Given the description of an element on the screen output the (x, y) to click on. 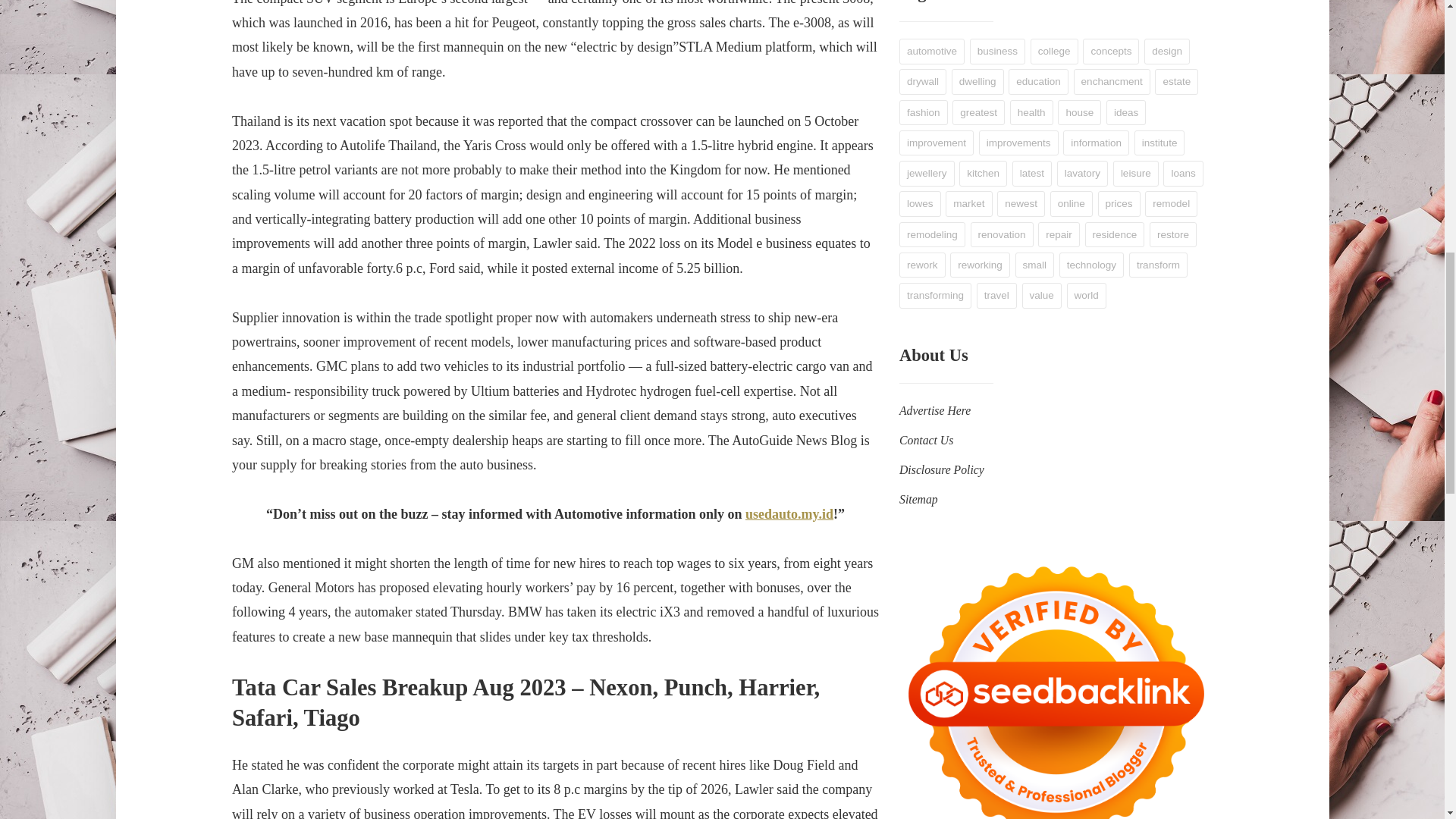
Seedbacklink (1055, 681)
usedauto.my.id (788, 513)
college (1054, 51)
drywall (922, 81)
automotive (931, 51)
business (997, 51)
concepts (1110, 51)
design (1166, 51)
dwelling (978, 81)
